Given the description of an element on the screen output the (x, y) to click on. 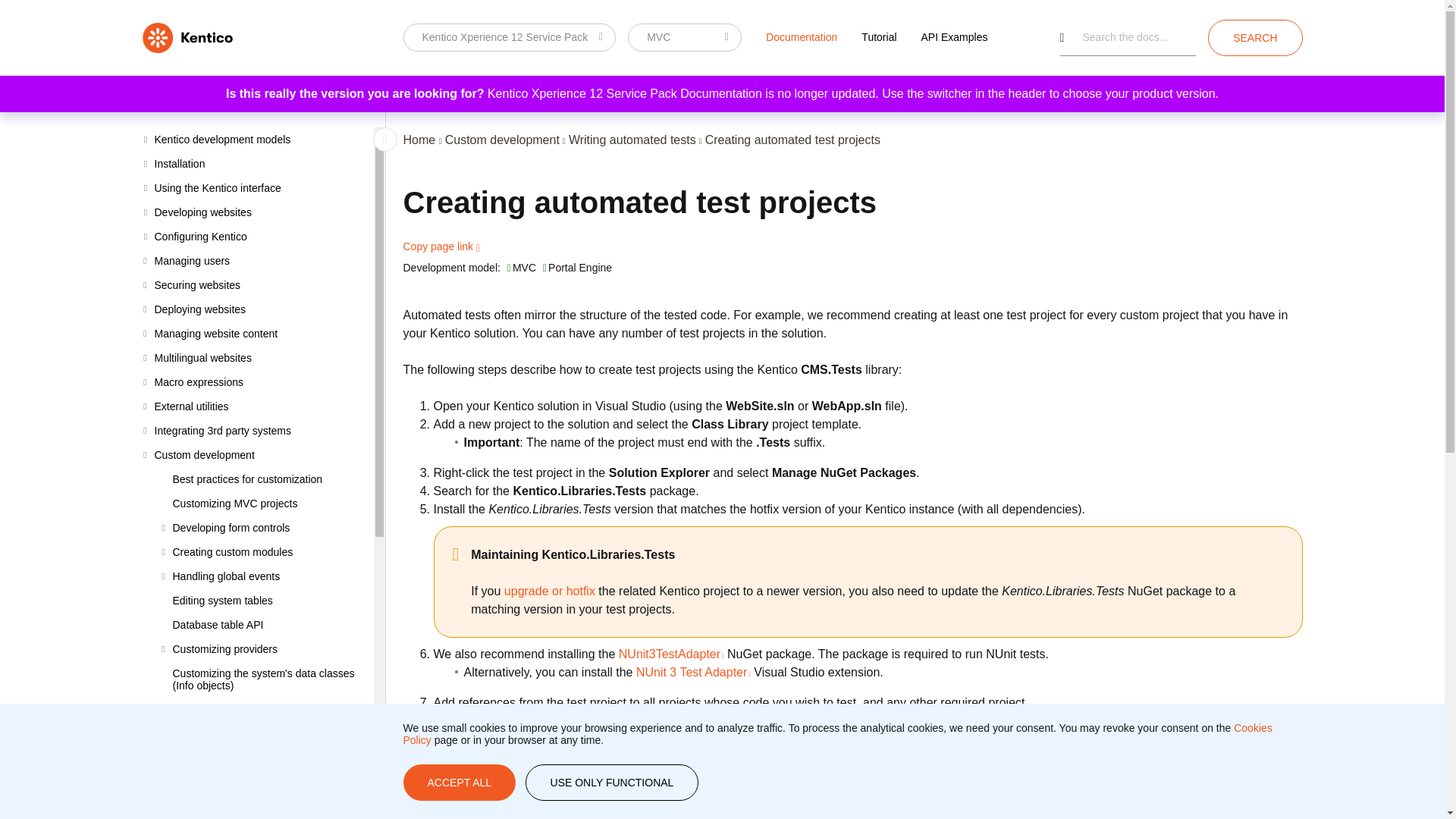
Which Kentico Xperience version do you have? (509, 36)
Kentico Xperience 12 Service Pack (509, 36)
API Examples (954, 37)
Tutorial (878, 37)
API Examples (954, 37)
Kentico development models (257, 139)
Documentation (801, 37)
MVC (684, 36)
Documentation (801, 37)
Tutorial (878, 37)
SEARCH (1254, 37)
Which development model do you use? (684, 36)
